Given the description of an element on the screen output the (x, y) to click on. 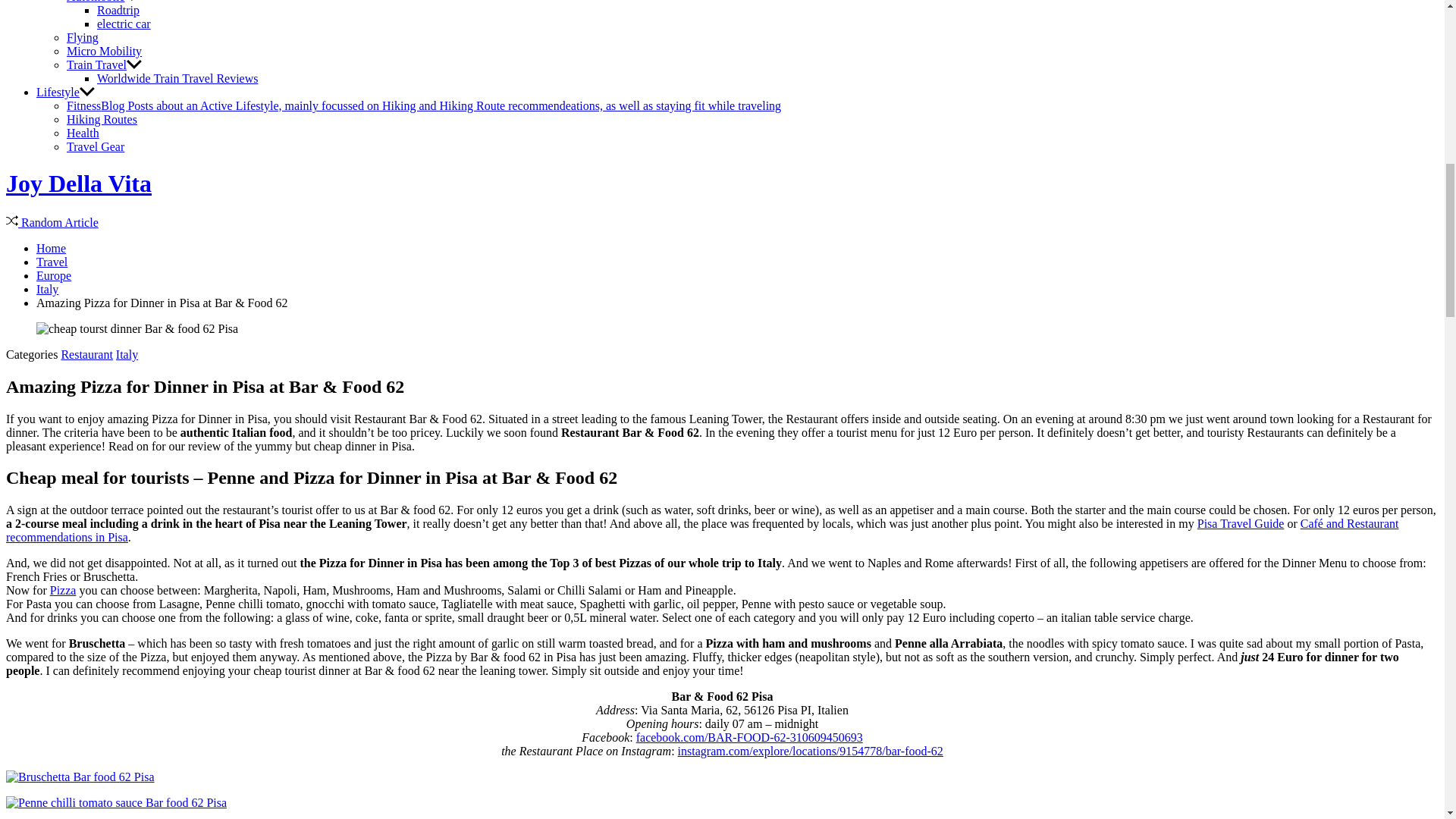
Random Article (52, 222)
Bruschetta Bar food 62 Pisa (79, 776)
Penne chilli tomato sauce Bar food 62 Pisa (116, 802)
